Given the description of an element on the screen output the (x, y) to click on. 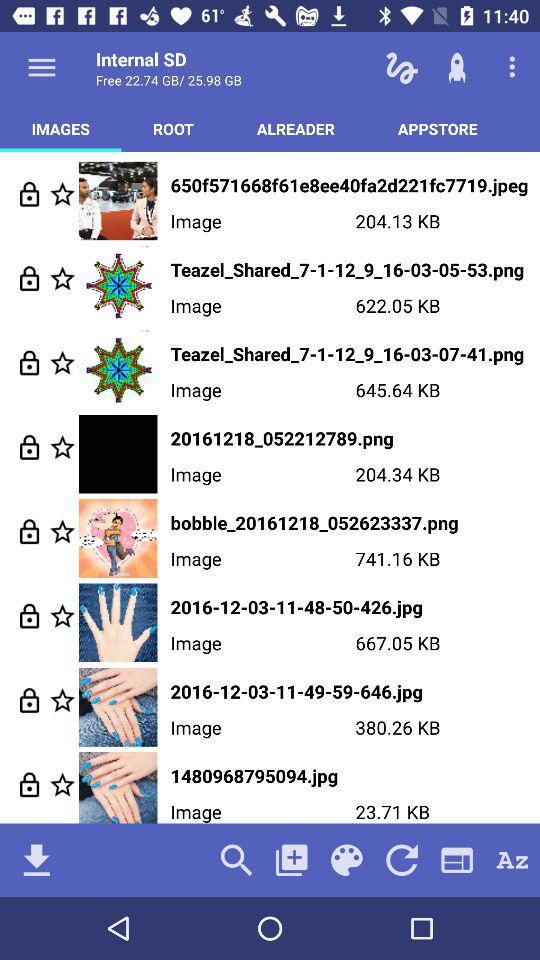
unlock image (29, 784)
